Given the description of an element on the screen output the (x, y) to click on. 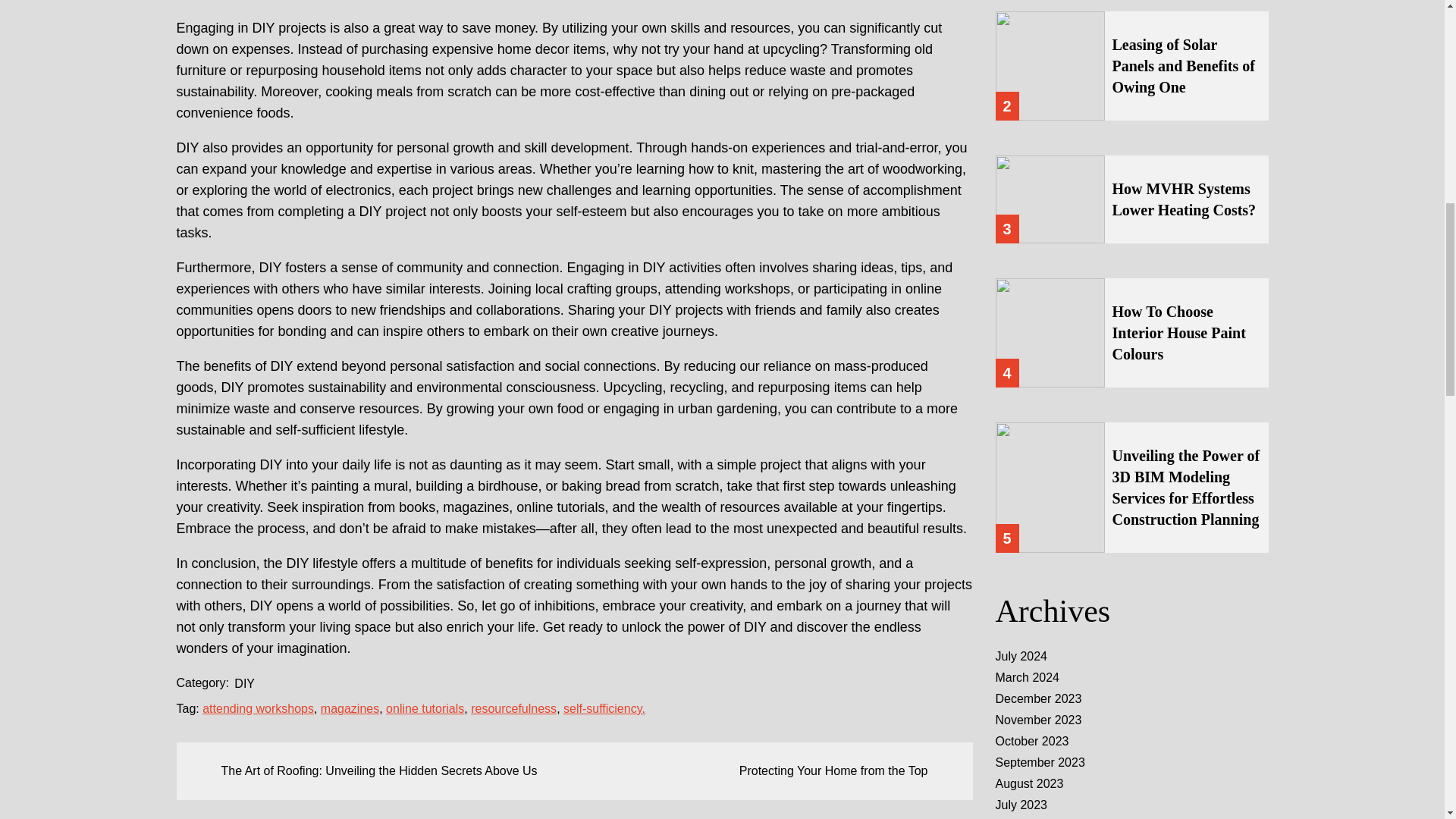
online tutorials (424, 707)
magazines (349, 707)
resourcefulness (513, 707)
attending workshops (258, 707)
DIY (244, 683)
self-sufficiency. (604, 707)
